Given the description of an element on the screen output the (x, y) to click on. 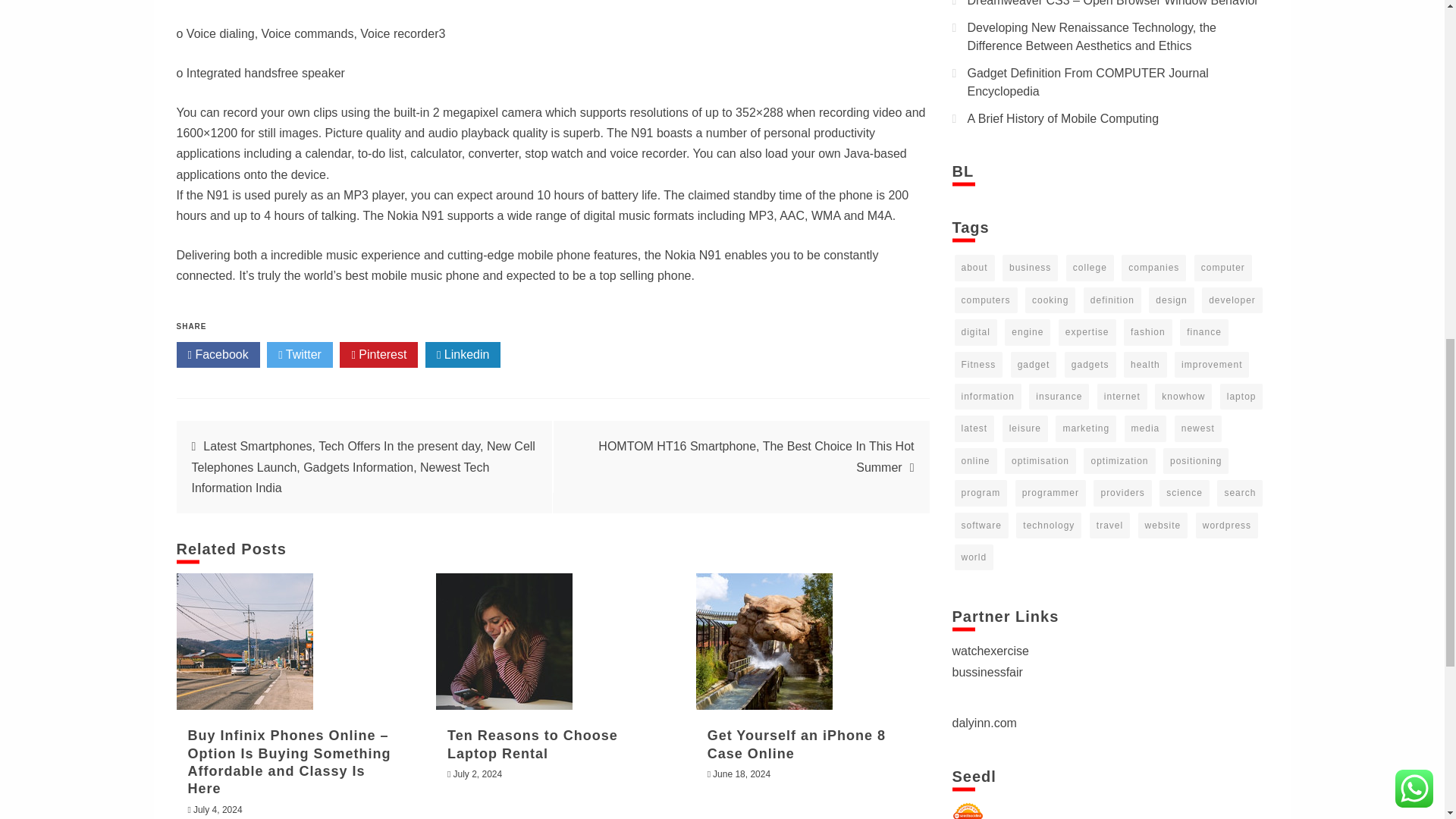
June 18, 2024 (741, 774)
HOMTOM HT16 Smartphone, The Best Choice In This Hot Summer (756, 456)
Facebook (217, 354)
Seedbacklink (968, 809)
Ten Reasons to Choose Laptop Rental (531, 744)
Get Yourself an iPhone 8 Case Online (796, 744)
Pinterest (378, 354)
July 2, 2024 (477, 774)
July 4, 2024 (218, 809)
Twitter (299, 354)
Ten Reasons to Choose Laptop Rental (503, 641)
Linkedin (462, 354)
Get Yourself an iPhone 8 Case Online (763, 641)
